Given the description of an element on the screen output the (x, y) to click on. 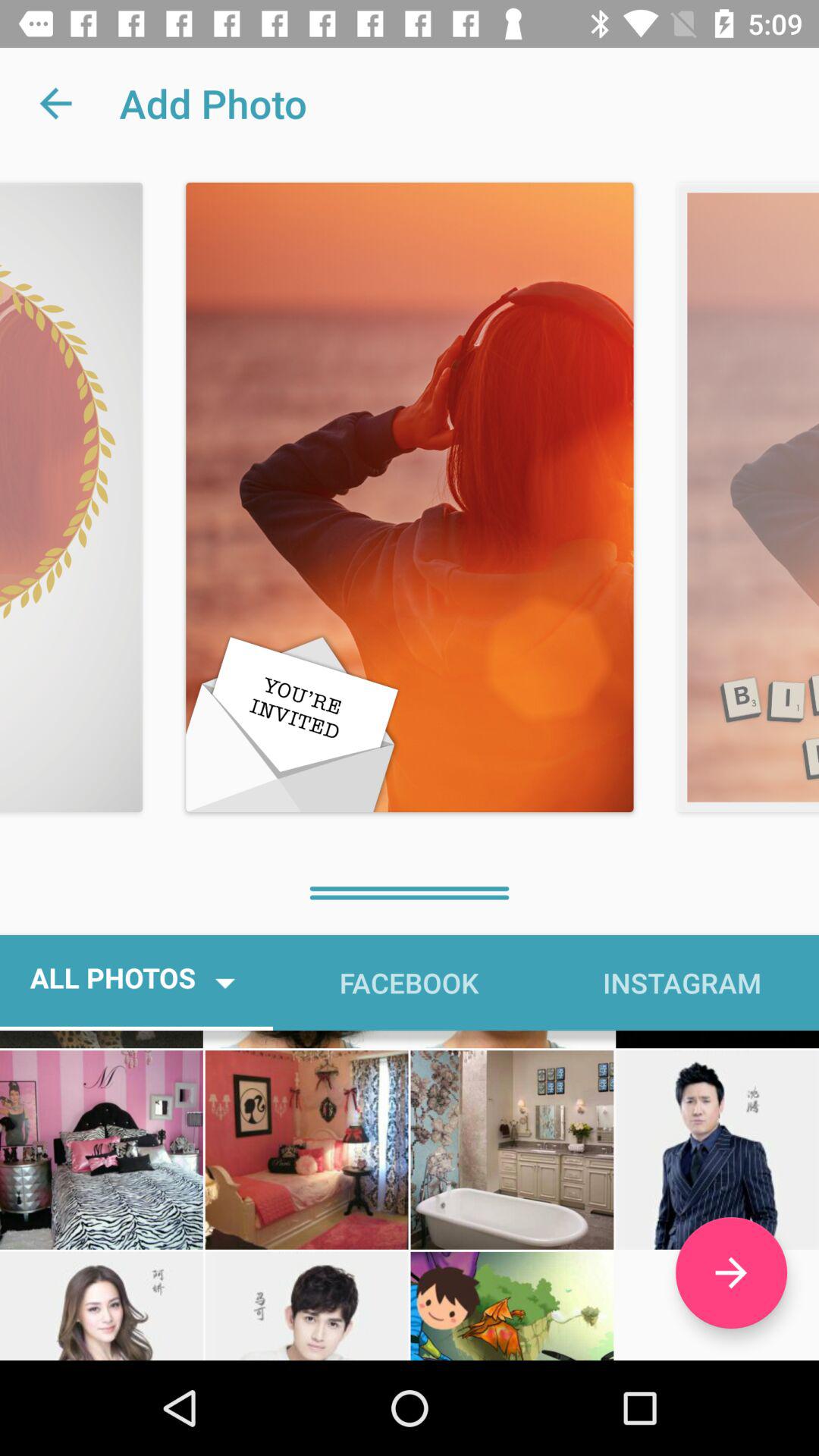
click item next to the add photo app (55, 103)
